Given the description of an element on the screen output the (x, y) to click on. 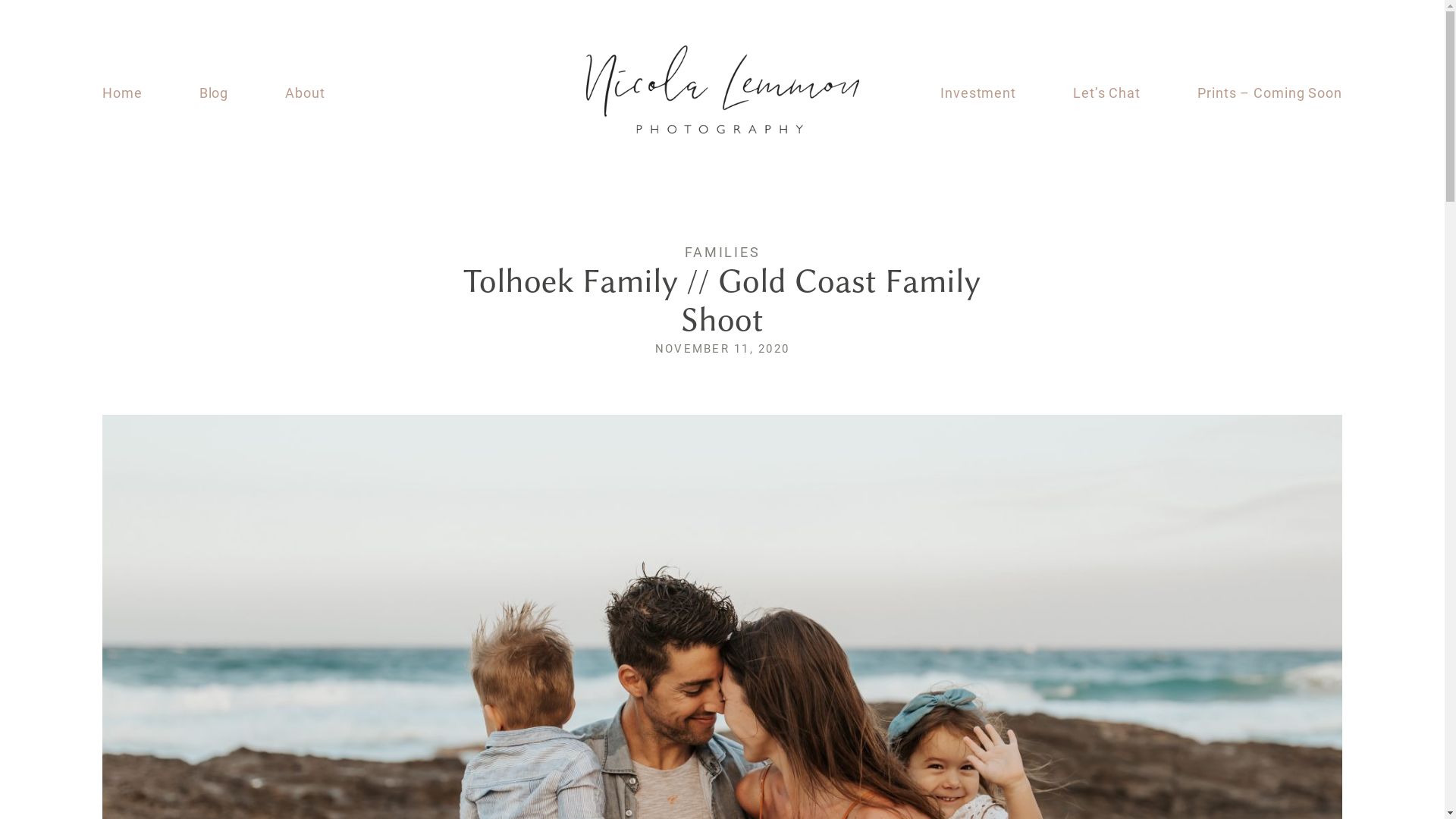
Investment Element type: text (978, 93)
About Element type: text (305, 93)
Home Element type: text (122, 93)
FAMILIES Element type: text (722, 252)
Blog Element type: text (214, 93)
